Given the description of an element on the screen output the (x, y) to click on. 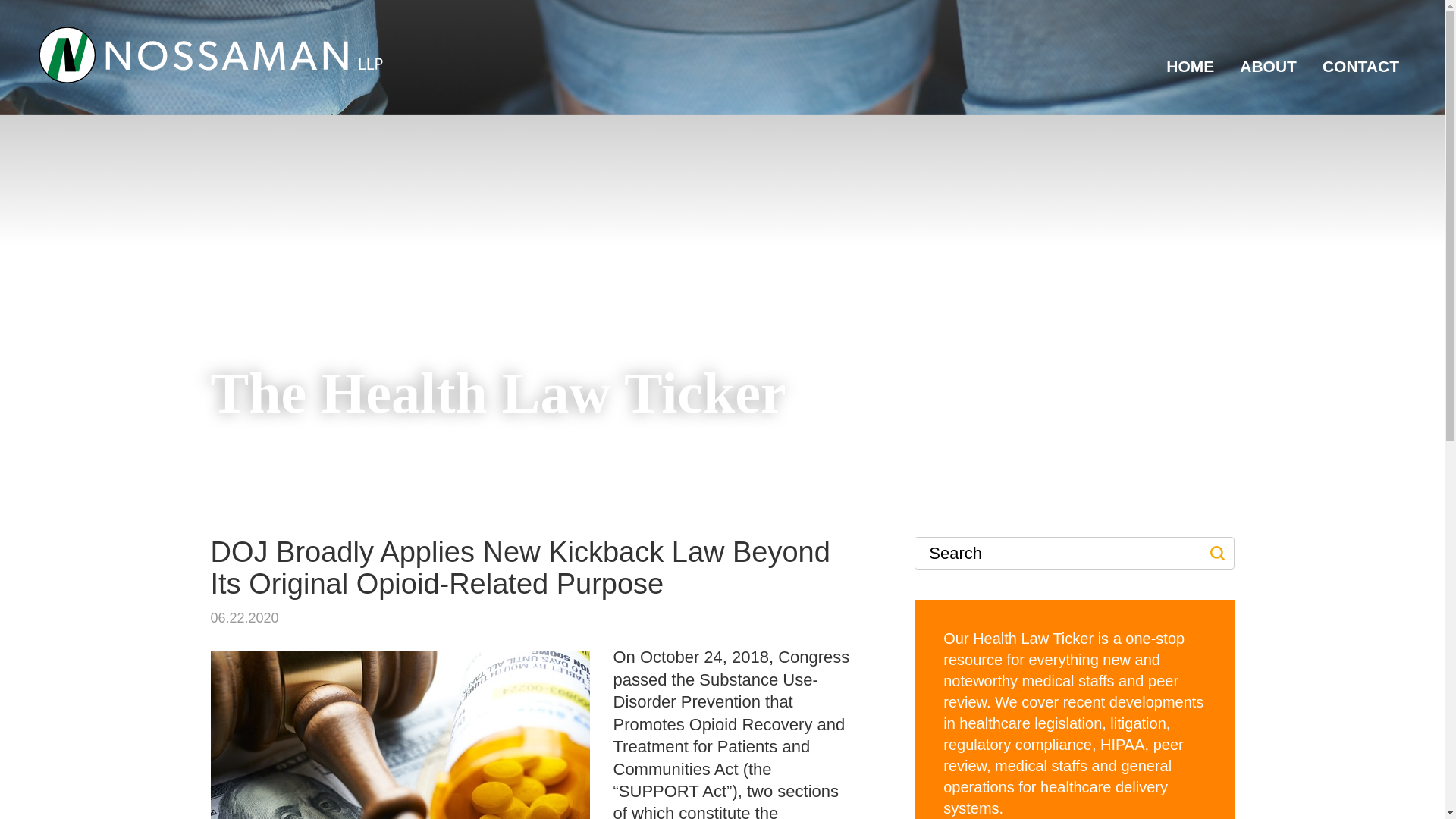
HOME (1190, 72)
